Given the description of an element on the screen output the (x, y) to click on. 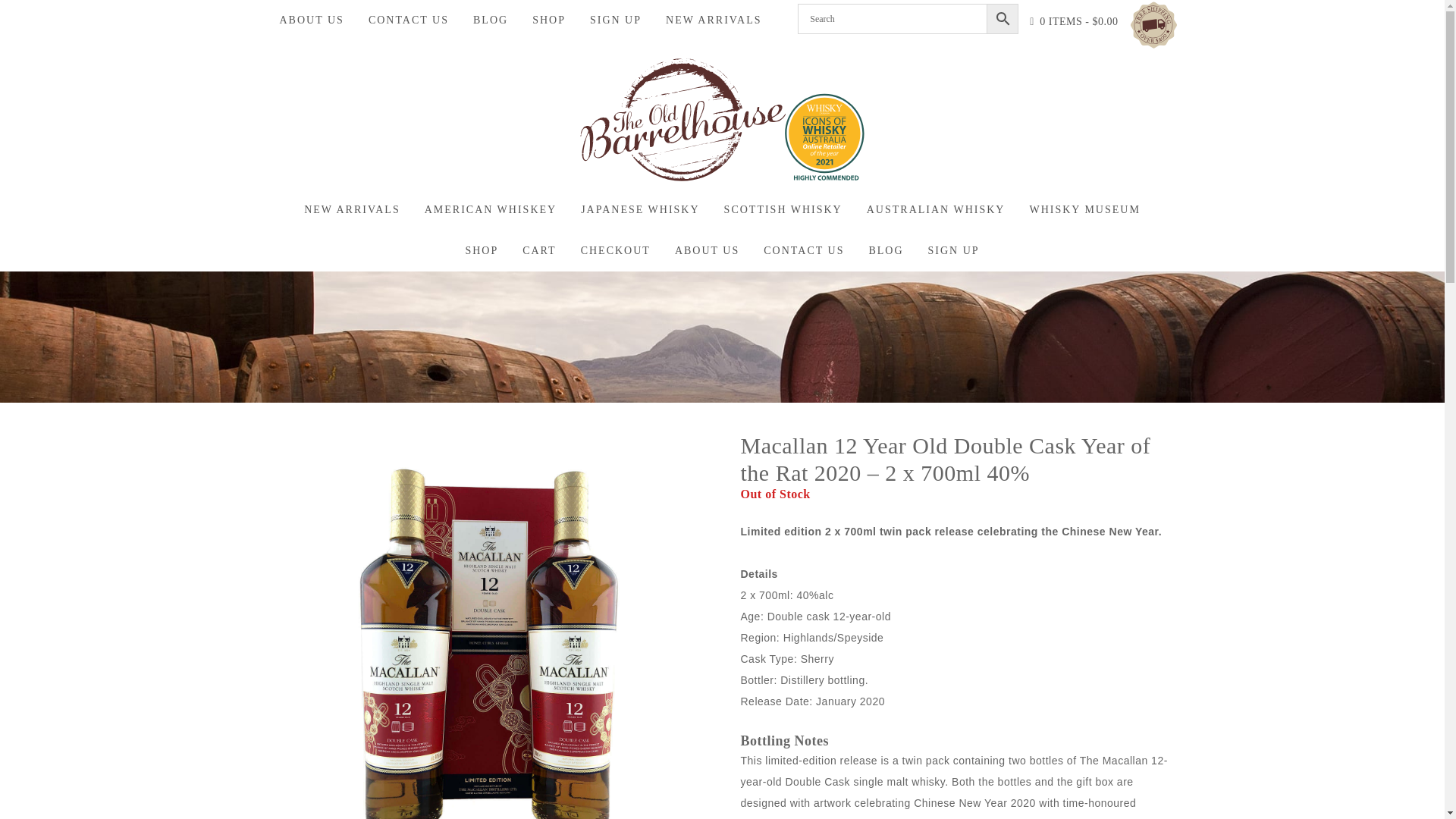
CART (540, 250)
ABOUT US (310, 20)
SHOP (548, 20)
BLOG (490, 20)
AUSTRALIAN WHISKY (935, 209)
CONTACT US (803, 250)
AMERICAN WHISKEY (490, 209)
SIGN UP (615, 20)
NEW ARRIVALS (713, 20)
